Given the description of an element on the screen output the (x, y) to click on. 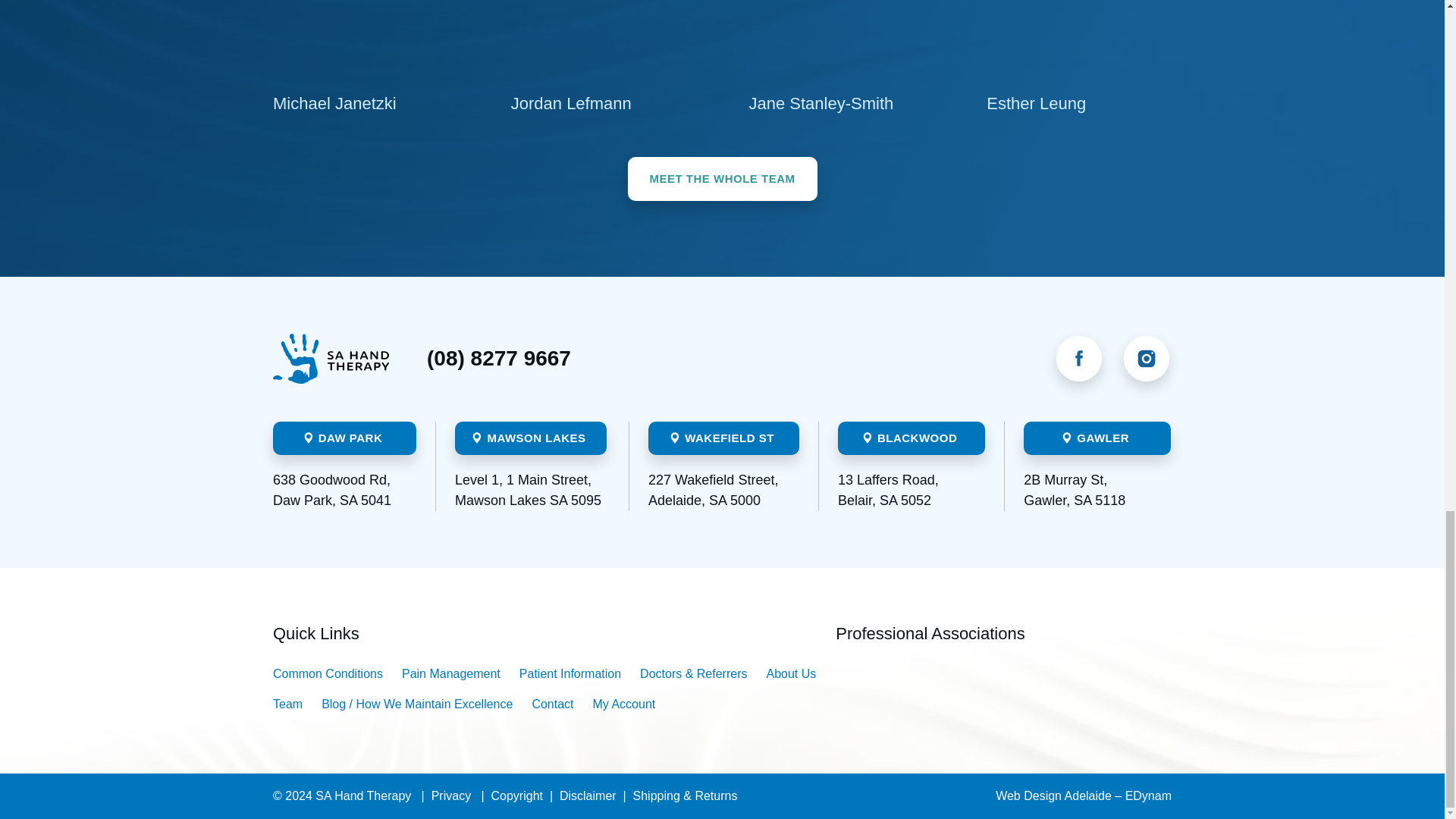
Jordan Lefmann (603, 38)
Web Design Adelaide (1083, 795)
Esther Leung (1079, 38)
Jane Stanley-Smith (841, 38)
Michael Janetzki (365, 38)
